Given the description of an element on the screen output the (x, y) to click on. 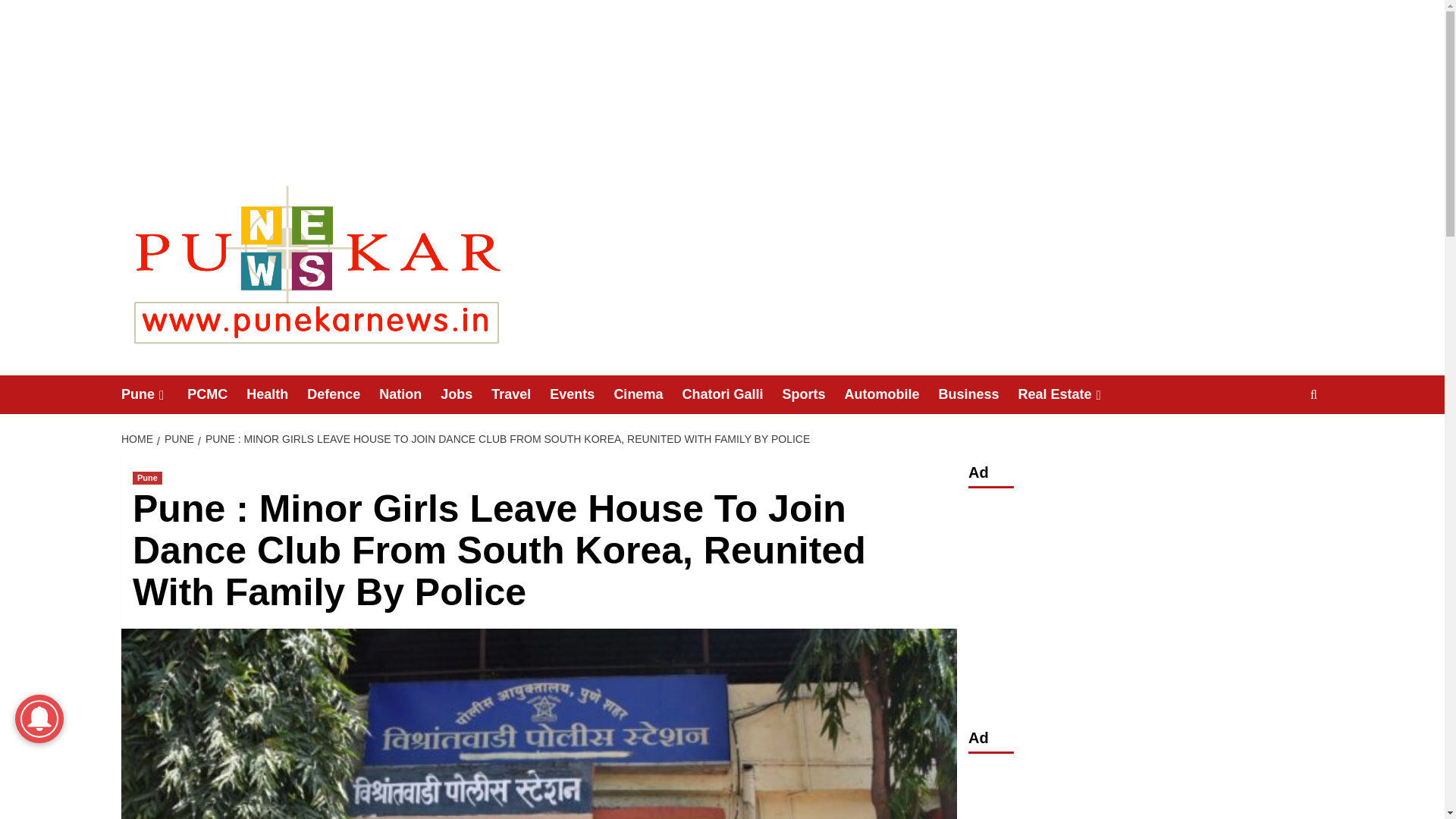
Chatori Galli (731, 394)
Cinema (646, 394)
Defence (342, 394)
Advertisement (1145, 603)
Advertisement (1145, 791)
Health (276, 394)
PUNE (177, 439)
Sports (812, 394)
Search (1278, 441)
Automobile (890, 394)
Business (977, 394)
PCMC (216, 394)
Jobs (466, 394)
Pune (153, 394)
